Given the description of an element on the screen output the (x, y) to click on. 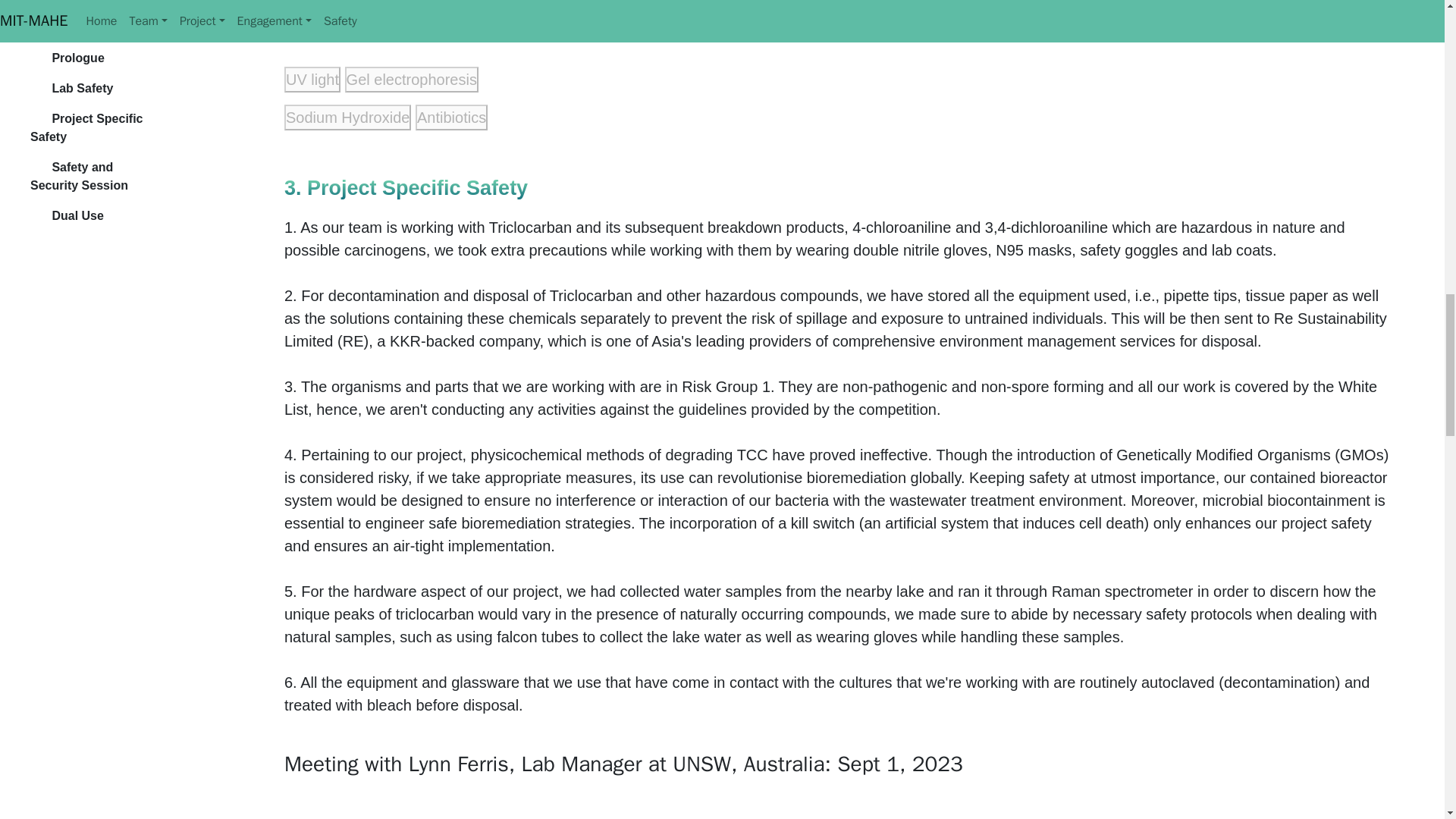
Antibiotics (450, 117)
UV light (311, 79)
Sodium Hydroxide (346, 117)
Gel electrophoresis (412, 79)
